Given the description of an element on the screen output the (x, y) to click on. 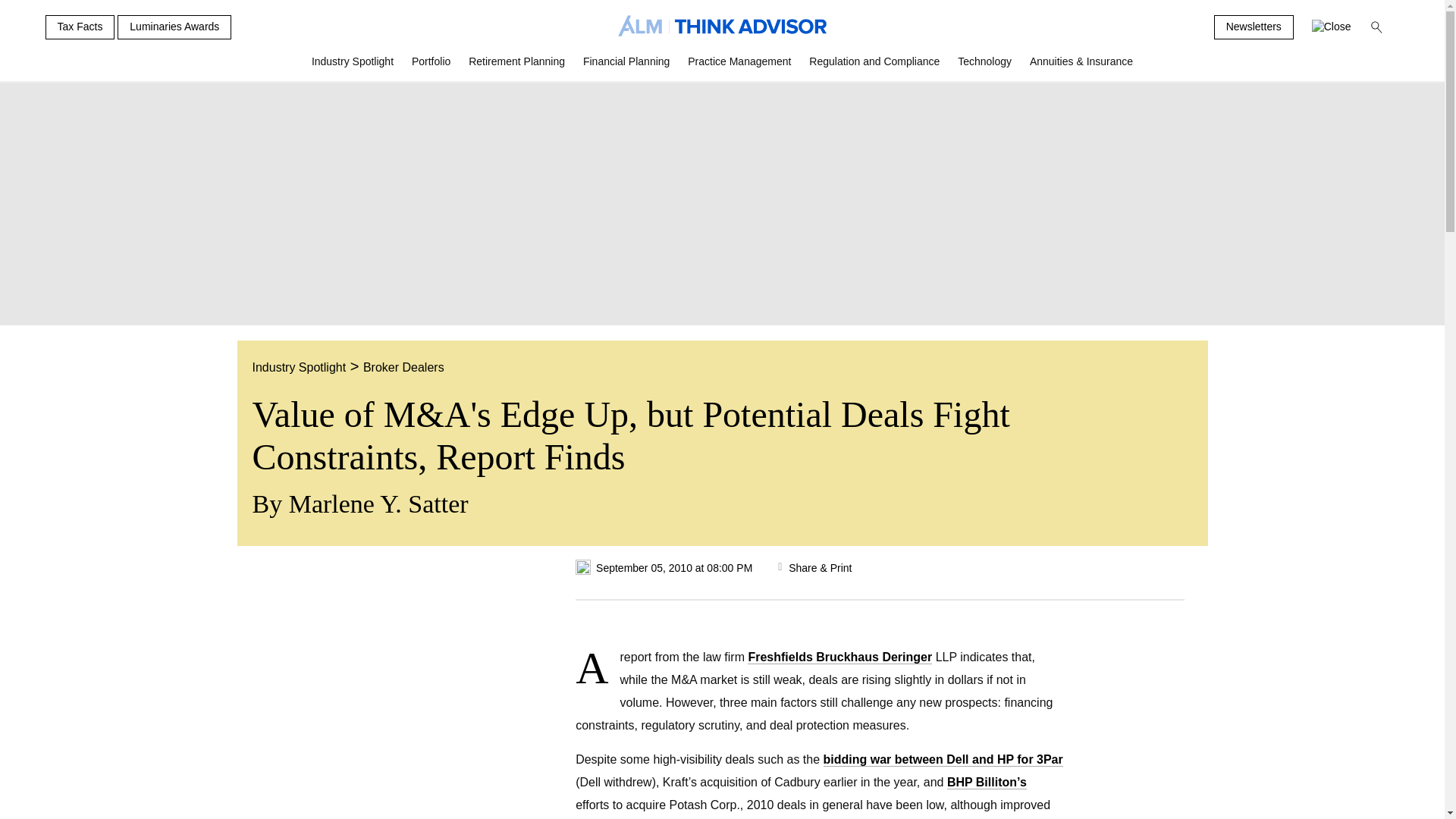
Newsletters (1254, 27)
Luminaries Awards (174, 27)
Industry Spotlight (352, 67)
Tax Facts (80, 27)
